Given the description of an element on the screen output the (x, y) to click on. 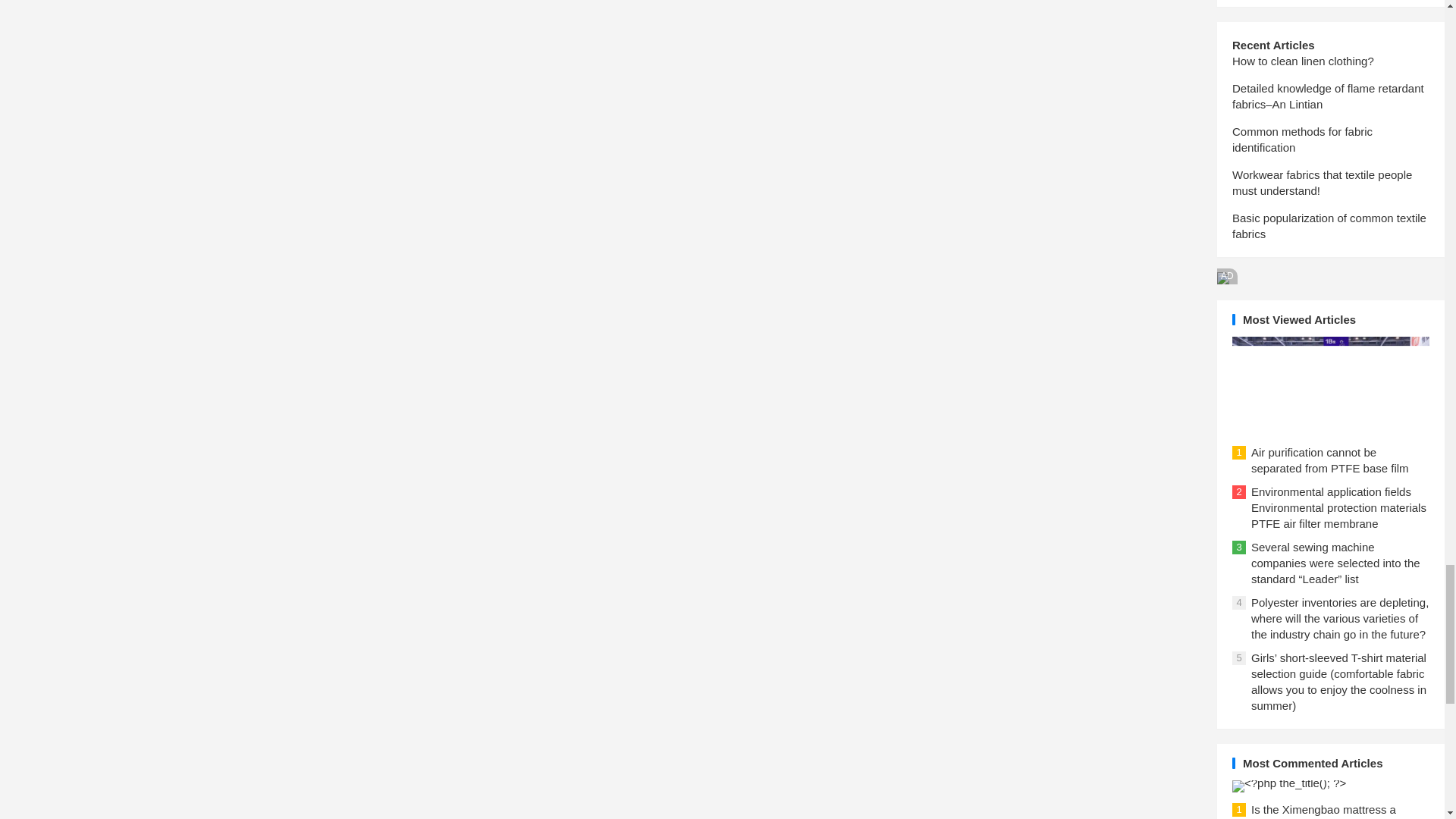
How to clean linen clothing? (1302, 60)
